Given the description of an element on the screen output the (x, y) to click on. 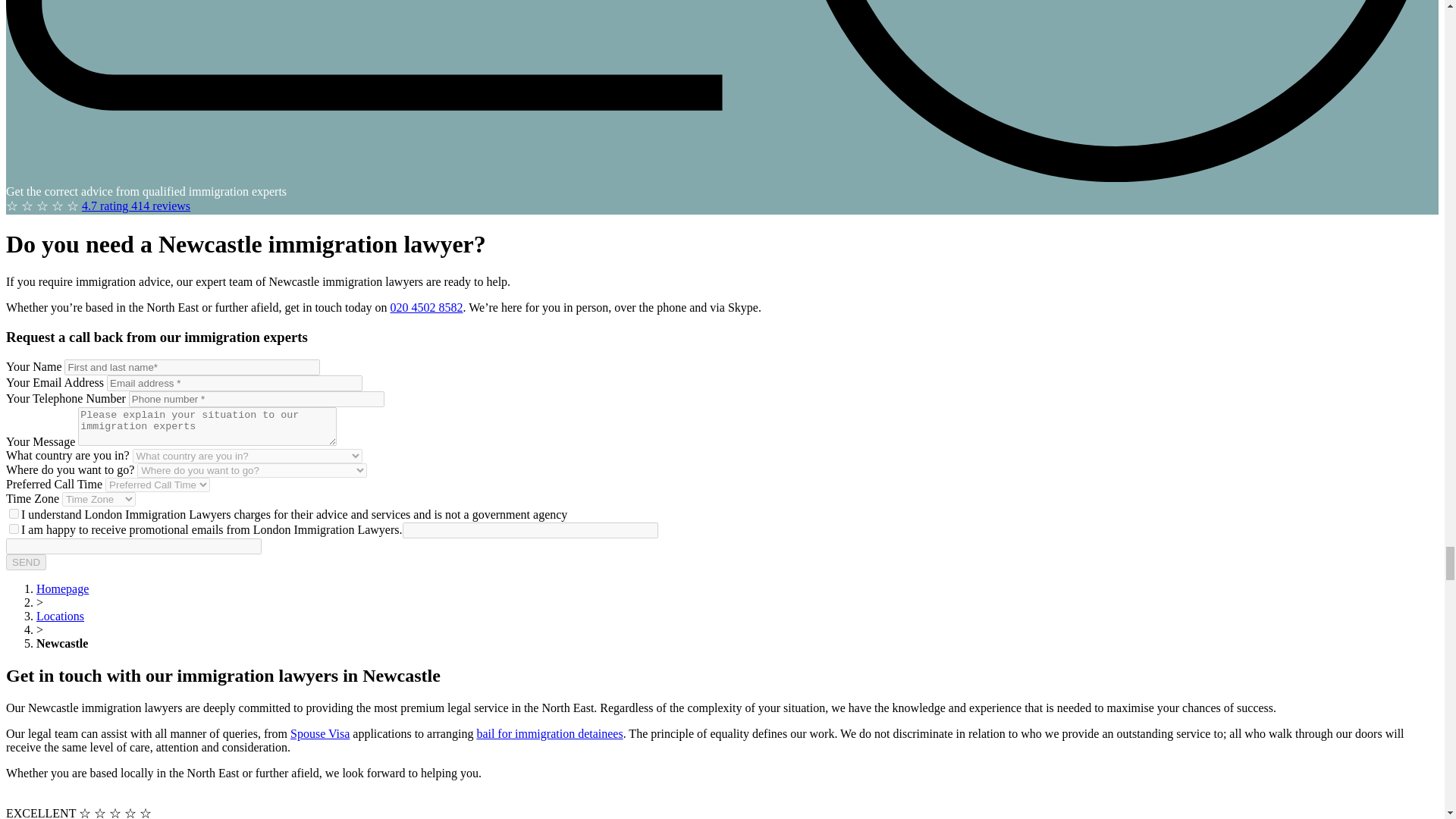
1 (13, 513)
SEND (25, 562)
Homepage (62, 588)
Locations (60, 615)
Newcastle (61, 643)
